Given the description of an element on the screen output the (x, y) to click on. 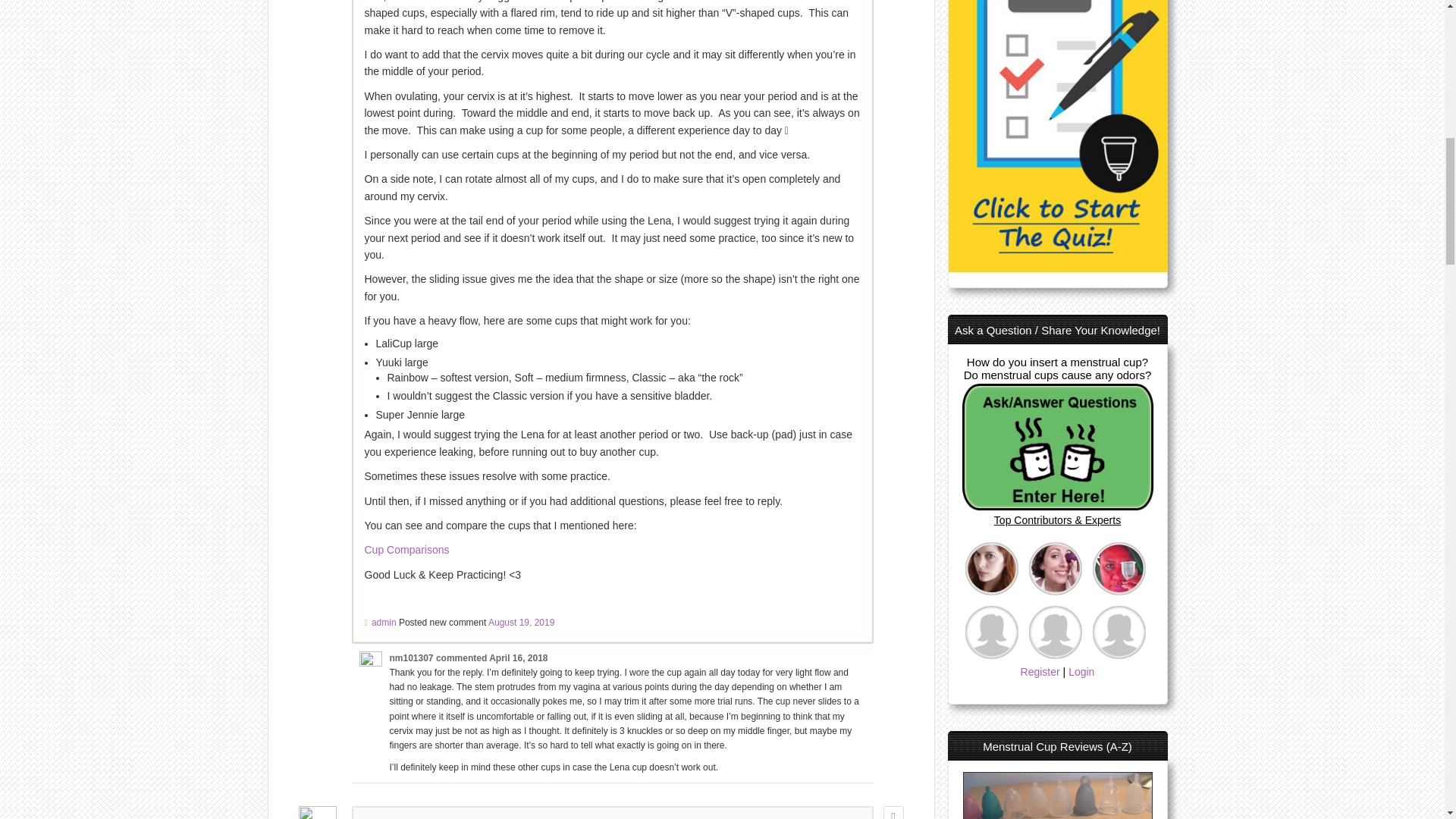
Up vote this post (892, 812)
